Given the description of an element on the screen output the (x, y) to click on. 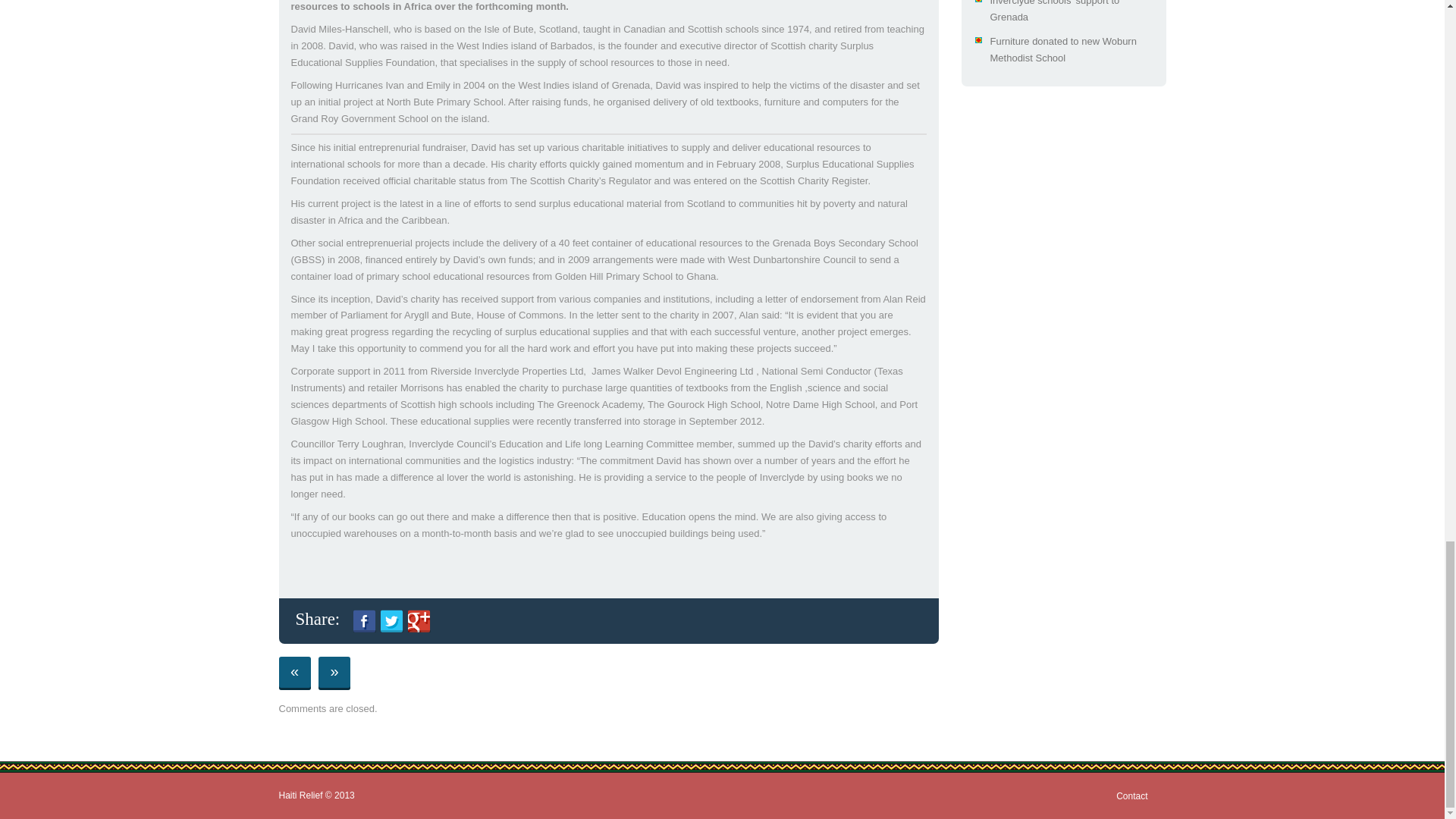
Furniture donated to new Woburn Methodist School (1063, 49)
Haiti Relief (301, 795)
Contact (1136, 796)
